Given the description of an element on the screen output the (x, y) to click on. 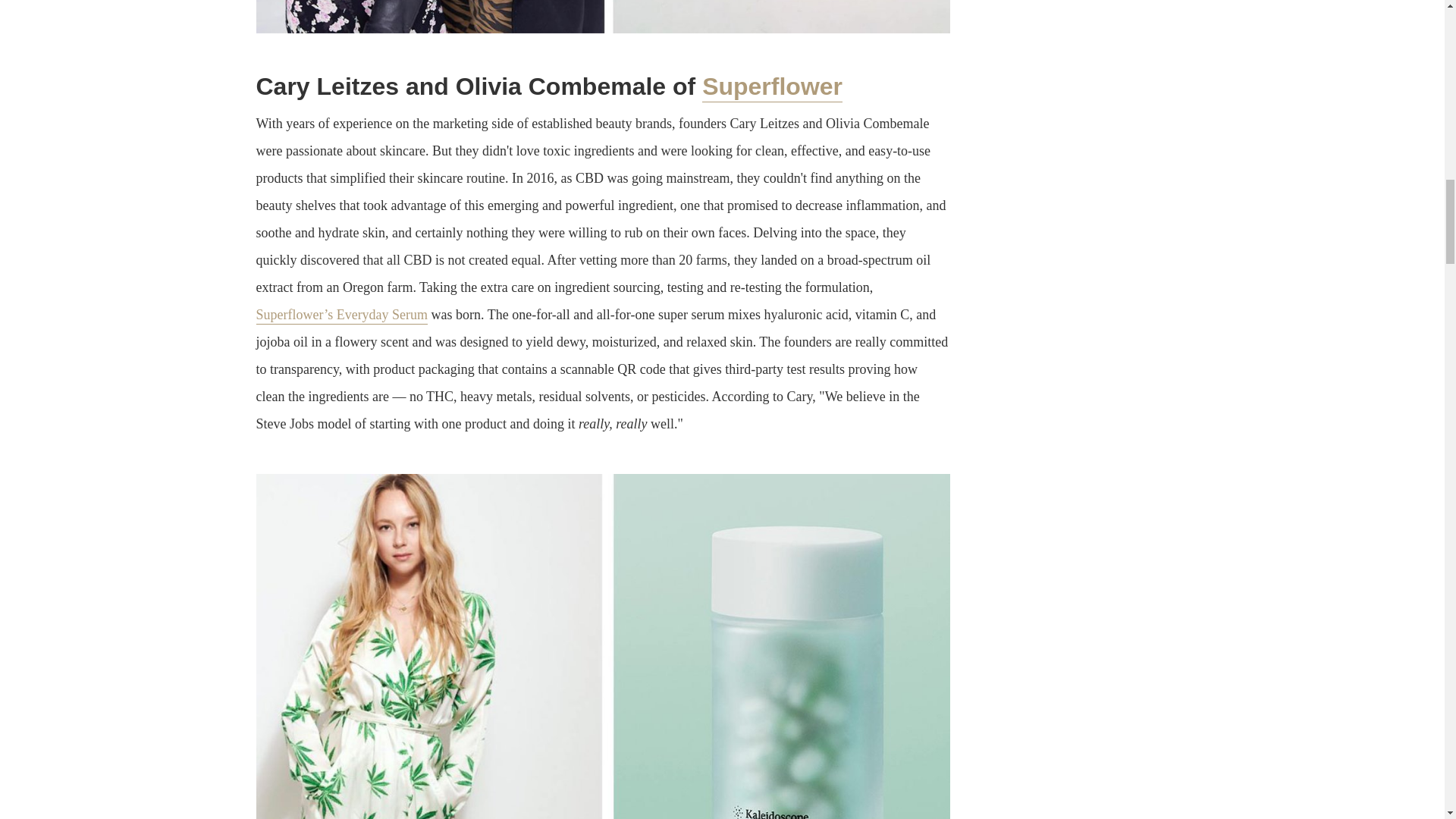
Superflower (772, 87)
